Given the description of an element on the screen output the (x, y) to click on. 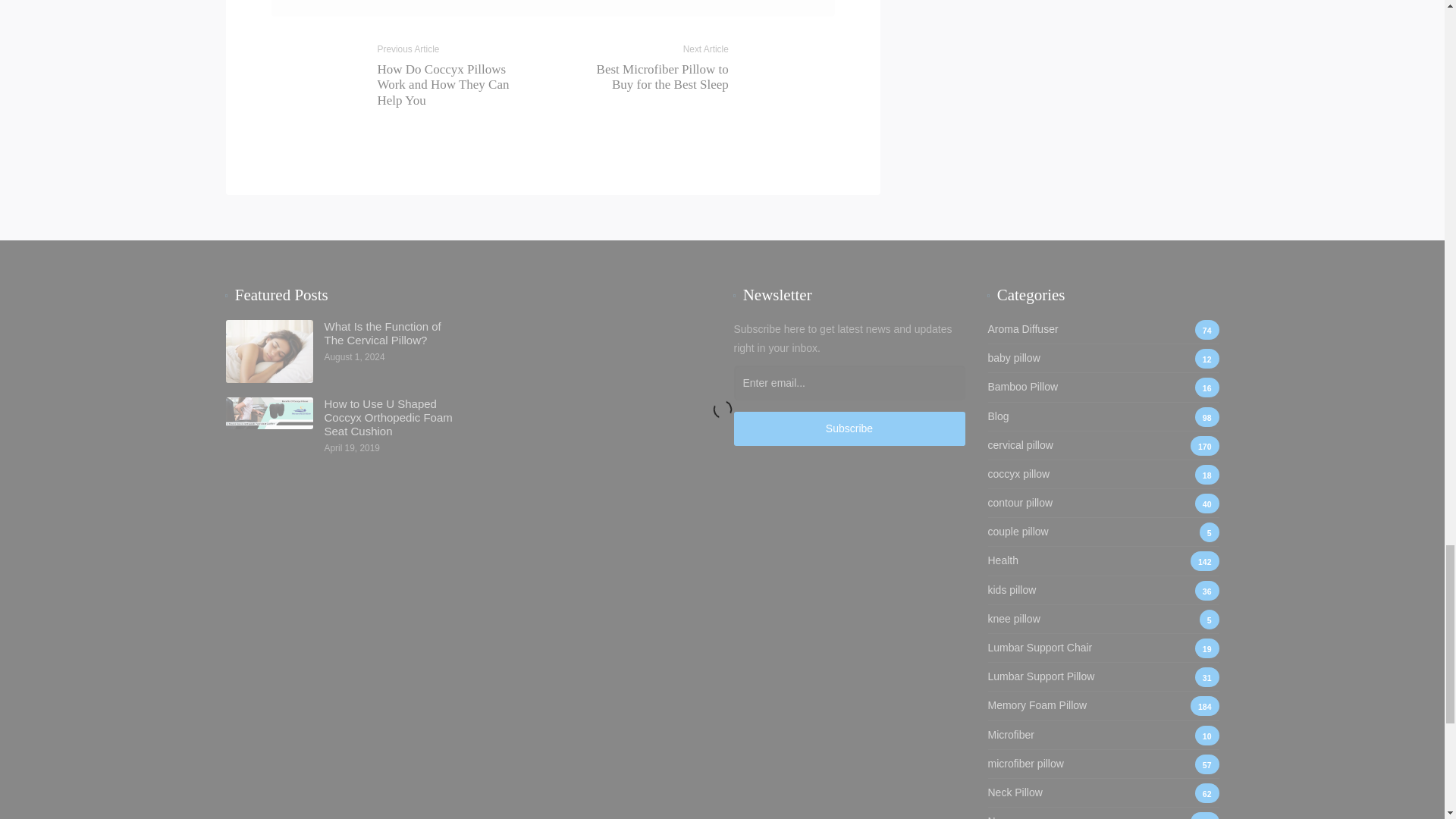
How Do Coccyx Pillows Work and How They Can Help You (443, 84)
Best Microfiber Pillow to Buy for the Best Sleep (662, 76)
